Given the description of an element on the screen output the (x, y) to click on. 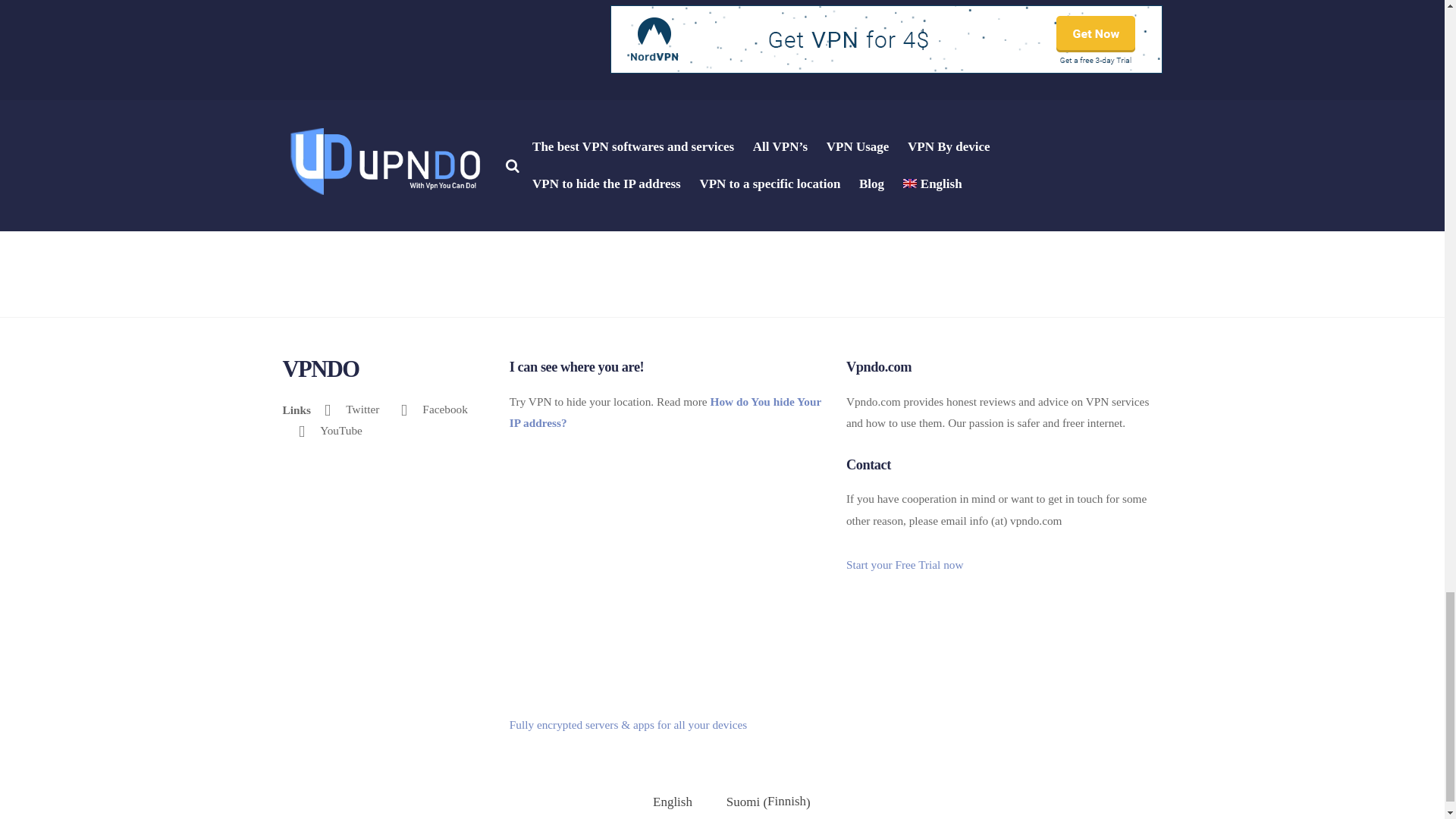
VPNDO (320, 369)
